Given the description of an element on the screen output the (x, y) to click on. 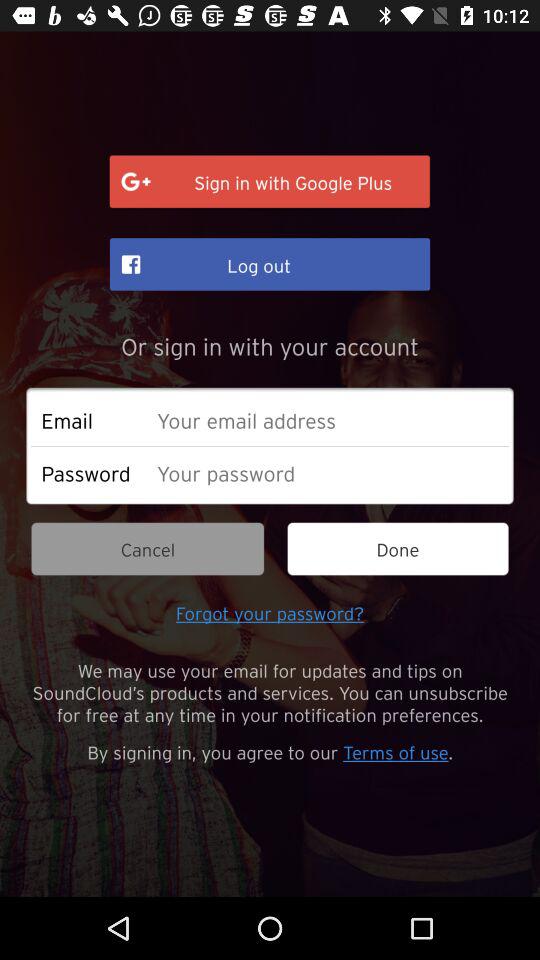
enter password (327, 472)
